Given the description of an element on the screen output the (x, y) to click on. 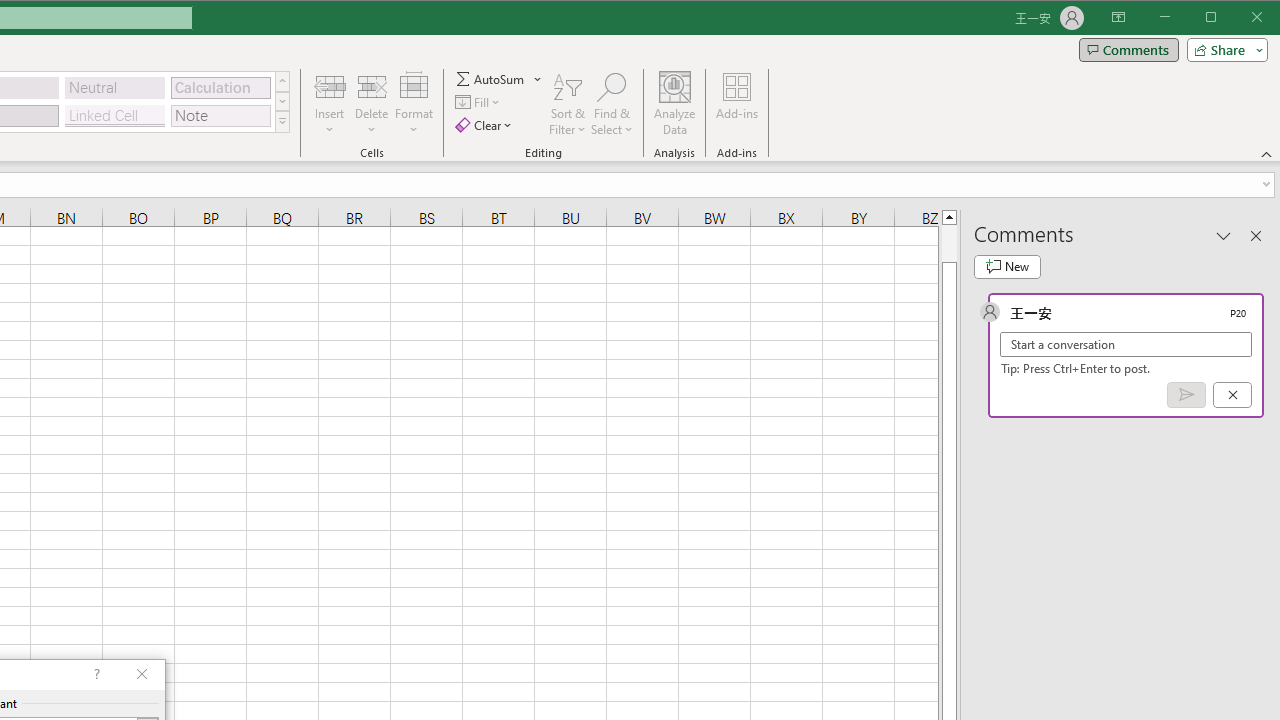
Analyze Data (674, 104)
Delete (371, 104)
Insert Cells (329, 86)
Close pane (1256, 235)
AutoSum (498, 78)
Post comment (Ctrl + Enter) (1186, 395)
Clear (484, 124)
Neutral (114, 88)
Class: NetUIImage (282, 121)
Page up (948, 243)
Delete Cells... (371, 86)
